Given the description of an element on the screen output the (x, y) to click on. 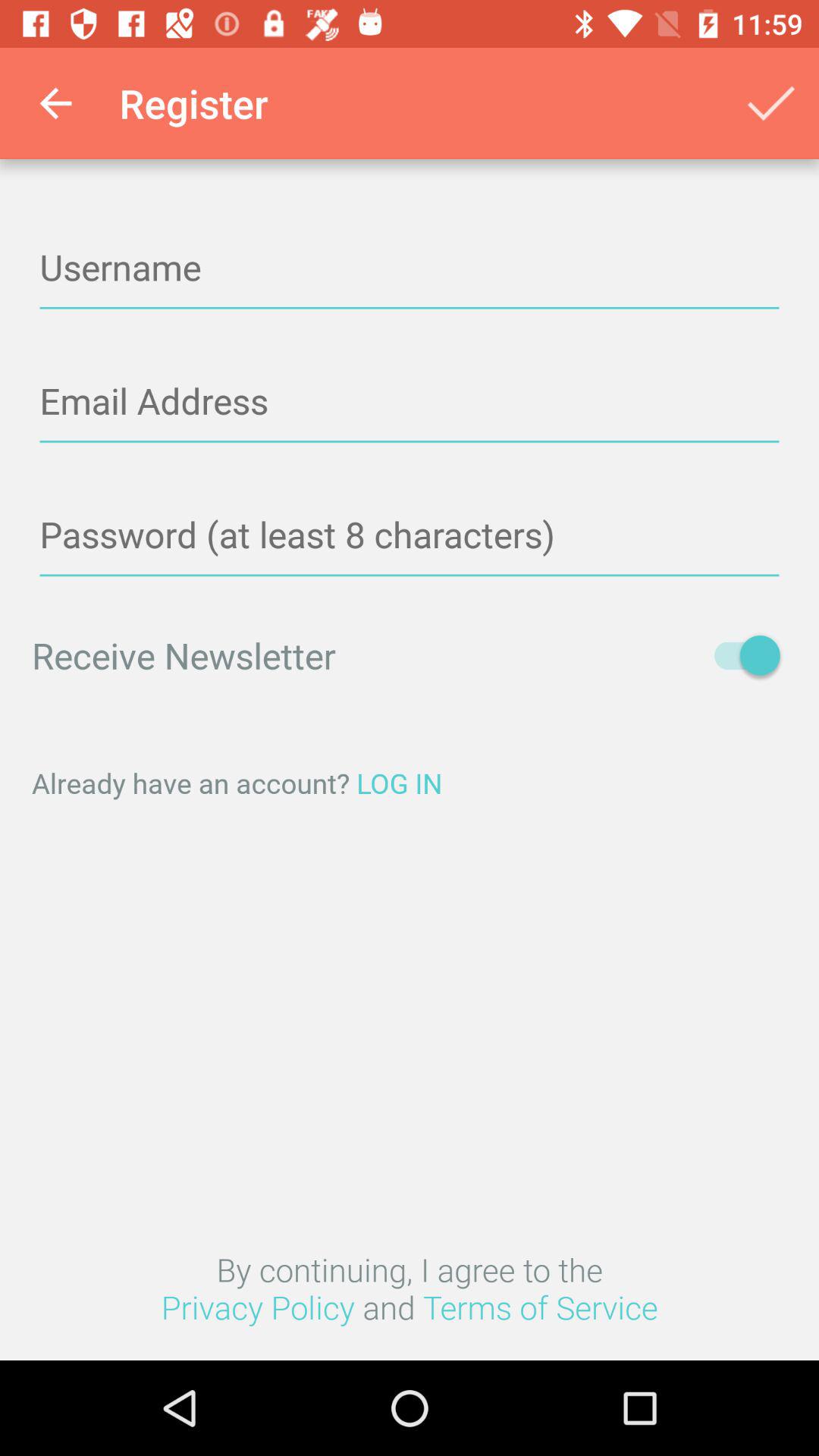
swipe to already have an icon (409, 782)
